Given the description of an element on the screen output the (x, y) to click on. 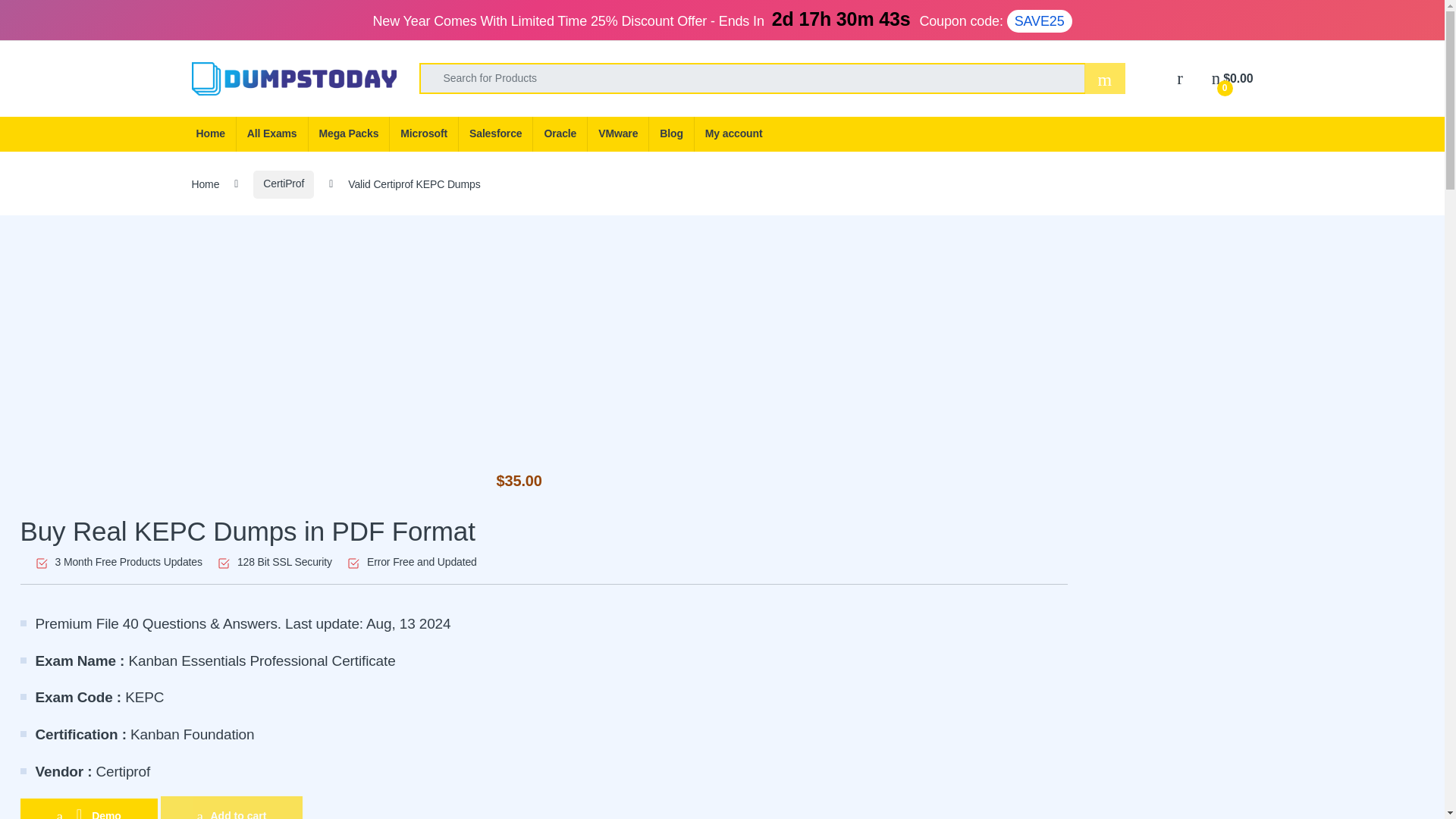
Mega Packs (348, 134)
Home (204, 183)
VMware (616, 134)
Microsoft (423, 134)
Salesforce (495, 134)
Home (209, 134)
Blog (670, 134)
Oracle (559, 134)
Home (209, 134)
CertiProf (283, 184)
